Given the description of an element on the screen output the (x, y) to click on. 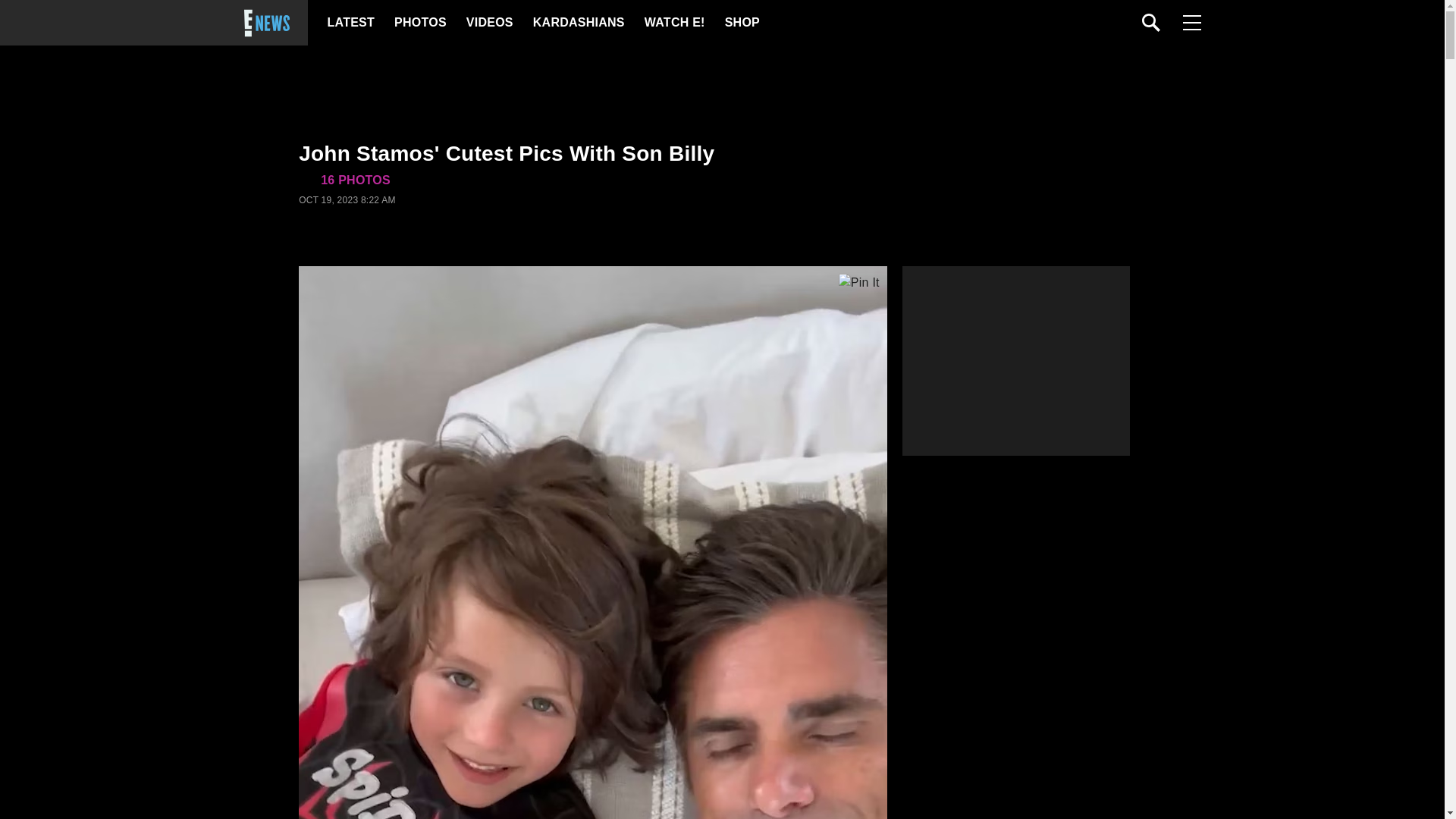
VIDEOS (488, 22)
PHOTOS (419, 22)
SHOP (741, 22)
KARDASHIANS (577, 22)
WATCH E! (673, 22)
LATEST (350, 22)
